Given the description of an element on the screen output the (x, y) to click on. 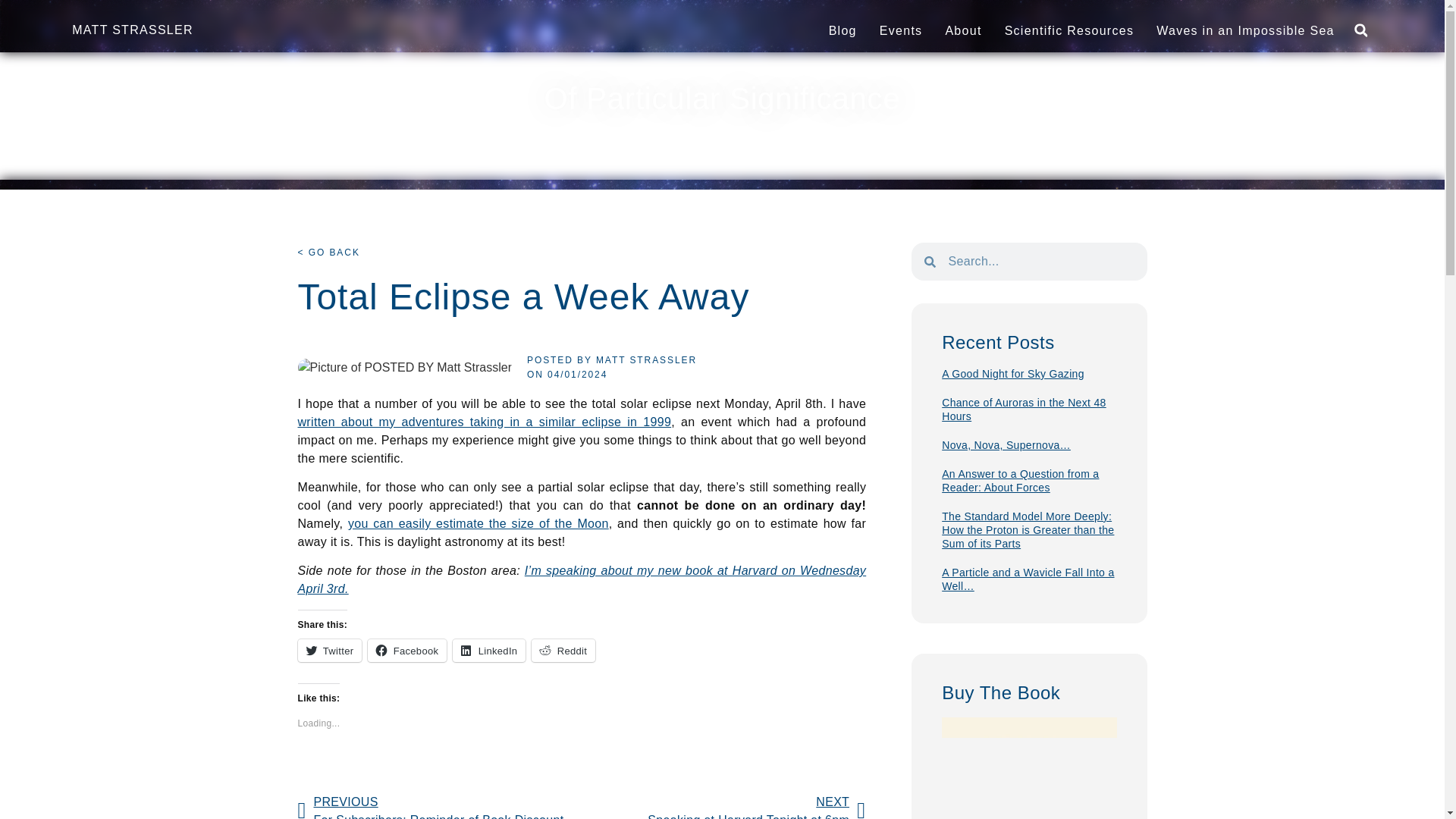
Events (901, 30)
Scientific Resources (1069, 30)
Reddit (563, 650)
Click to share on LinkedIn (488, 650)
Twitter (329, 650)
Click to share on Twitter (329, 650)
Waves in an Impossible Sea (1245, 30)
MATT STRASSLER (132, 29)
LinkedIn (488, 650)
